Given the description of an element on the screen output the (x, y) to click on. 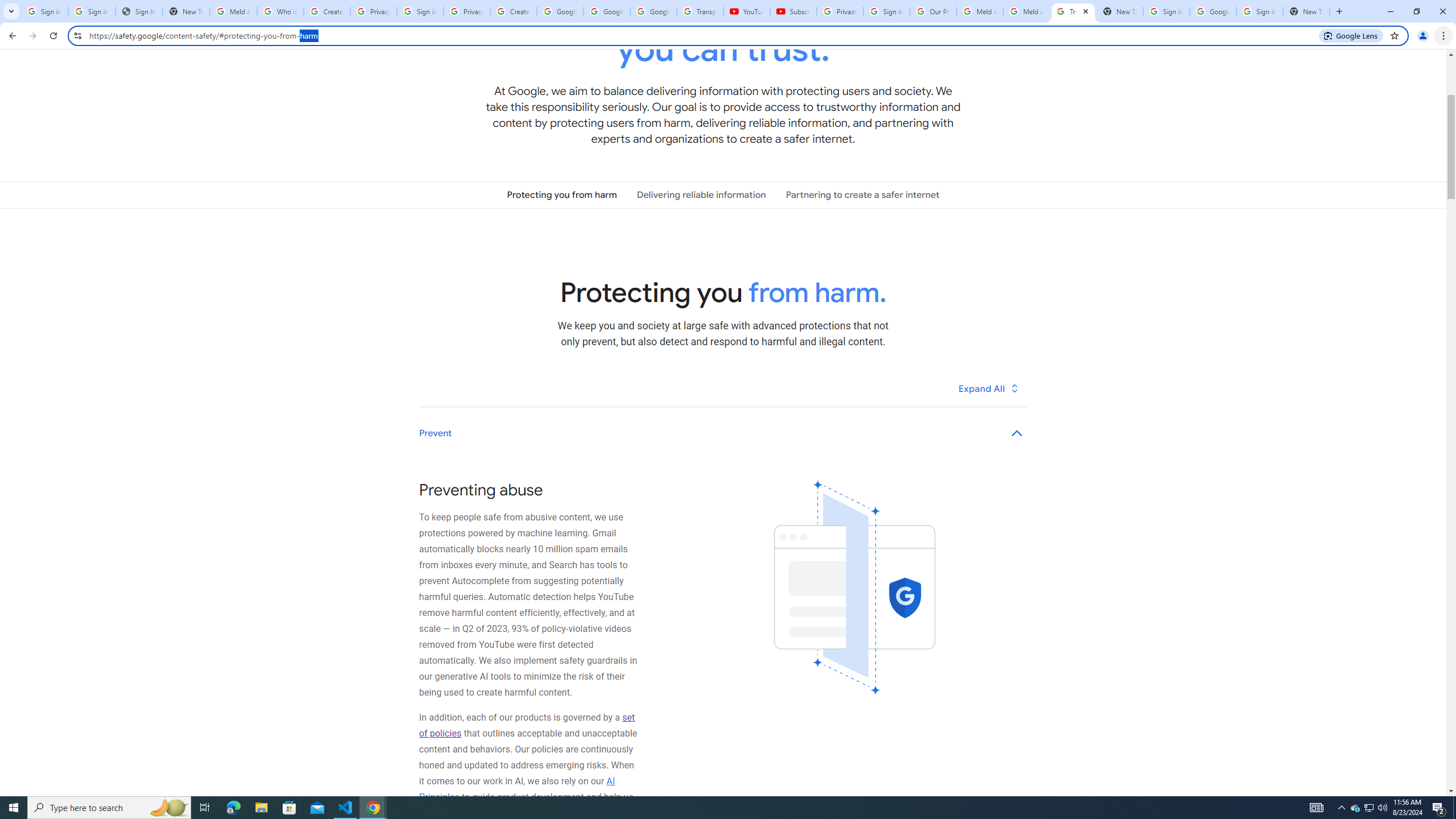
Who is my administrator? - Google Account Help (279, 11)
Subscriptions - YouTube (792, 11)
Google Cybersecurity Innovations - Google Safety Center (1213, 11)
Sign in - Google Accounts (44, 11)
Sign in - Google Accounts (886, 11)
Trusted Information and Content - Google Safety Center (1073, 11)
Sign in - Google Accounts (91, 11)
